Given the description of an element on the screen output the (x, y) to click on. 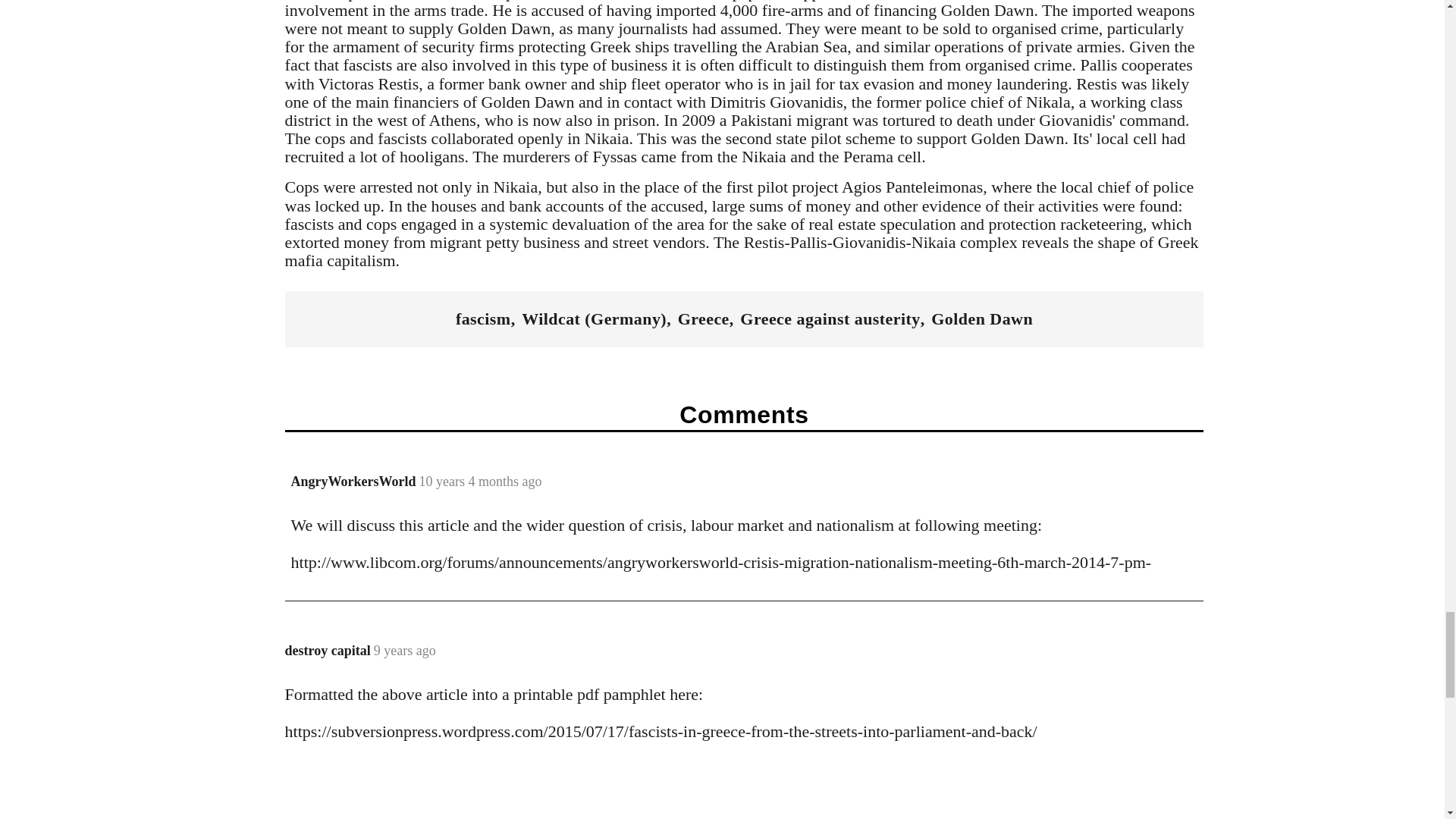
Golden Dawn (981, 319)
fascism (483, 319)
Greece (703, 319)
Greece against austerity (829, 319)
